Given the description of an element on the screen output the (x, y) to click on. 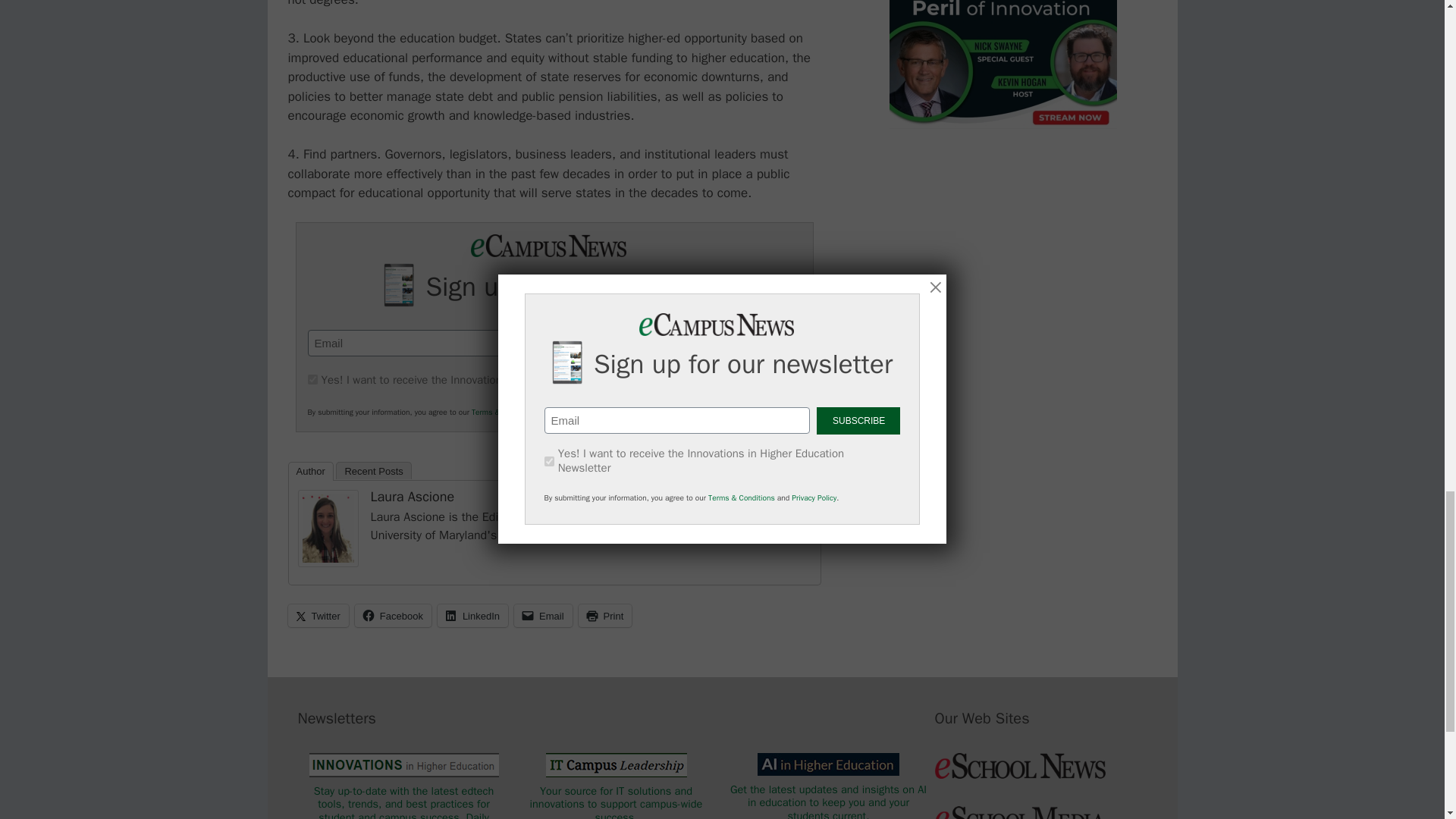
SUBSCRIBE (727, 343)
200 (312, 379)
